Given the description of an element on the screen output the (x, y) to click on. 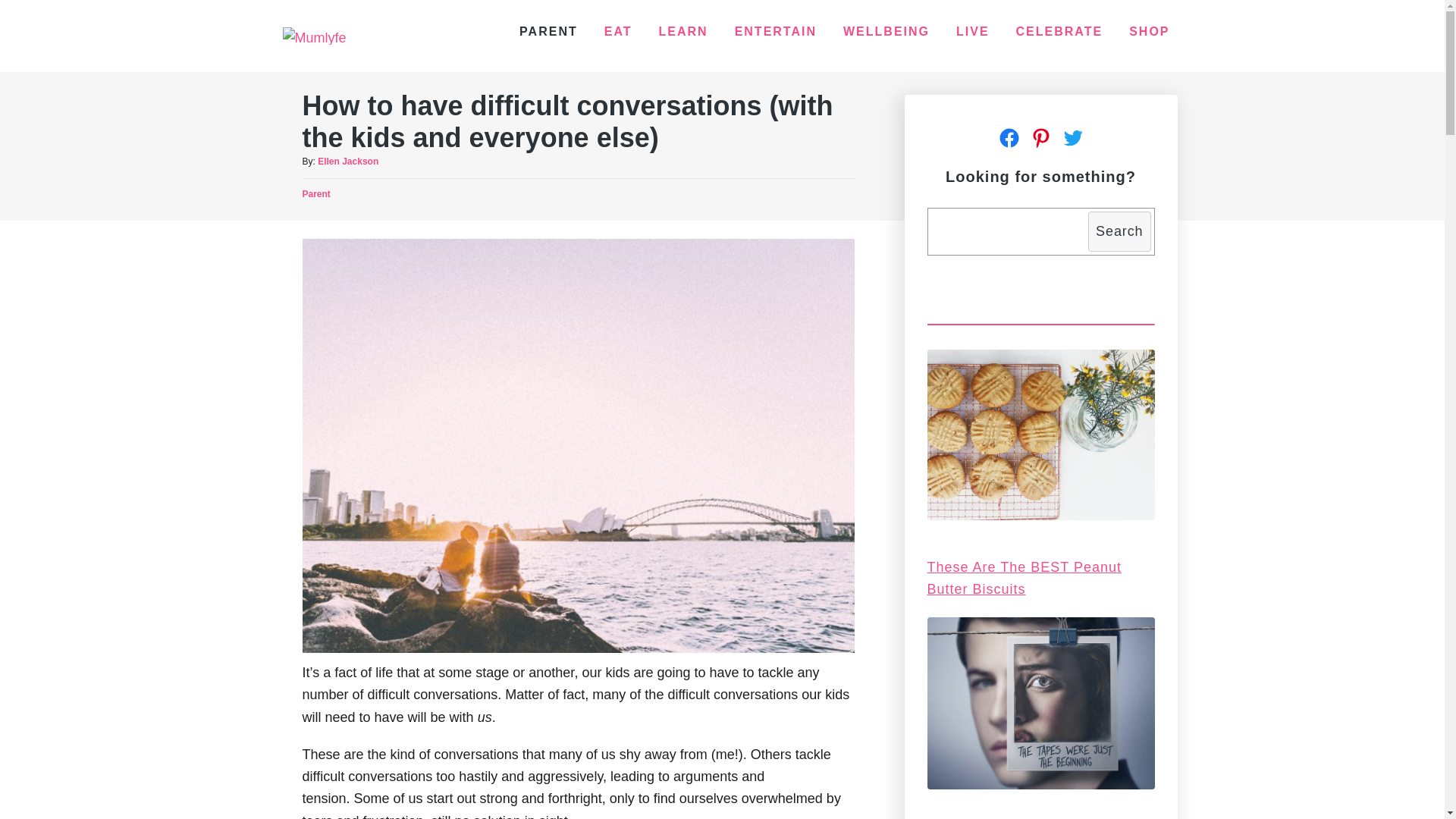
LEARN (683, 31)
WELLBEING (886, 31)
CELEBRATE (1059, 31)
EAT (618, 31)
Mumlyfe (314, 35)
PARENT (548, 31)
LIVE (973, 31)
ENTERTAIN (775, 31)
